Given the description of an element on the screen output the (x, y) to click on. 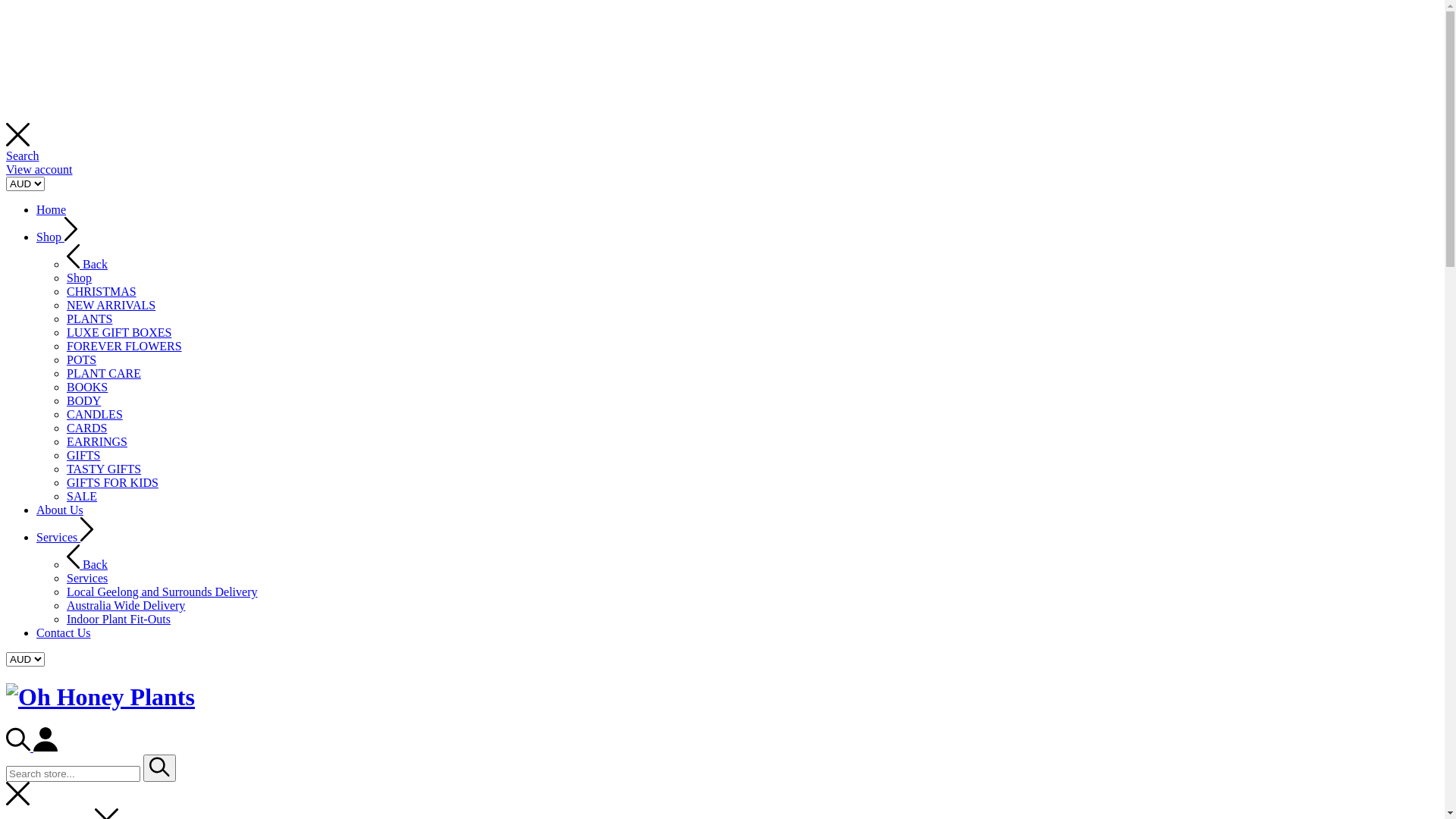
GIFTS Element type: text (83, 454)
CARDS Element type: text (86, 427)
TASTY GIFTS Element type: text (103, 468)
About Us Element type: text (59, 509)
Back Element type: text (86, 564)
PLANT CARE Element type: text (103, 373)
SALE Element type: text (81, 495)
Search Element type: text (22, 155)
Shop Element type: text (56, 236)
CHRISTMAS Element type: text (101, 291)
BOOKS Element type: text (86, 386)
Oh Honey Plants Element type: hover (100, 696)
View account Element type: text (39, 169)
BODY Element type: text (83, 400)
POTS Element type: text (81, 359)
Services Element type: text (86, 577)
PLANTS Element type: text (89, 318)
Back Element type: text (86, 263)
Home Element type: text (50, 209)
GIFTS FOR KIDS Element type: text (112, 482)
LUXE GIFT BOXES Element type: text (118, 332)
FOREVER FLOWERS Element type: text (124, 345)
Contact Us Element type: text (63, 632)
EARRINGS Element type: text (96, 441)
Indoor Plant Fit-Outs Element type: text (118, 618)
Services Element type: text (64, 536)
CANDLES Element type: text (94, 413)
Australia Wide Delivery Element type: text (125, 605)
Local Geelong and Surrounds Delivery Element type: text (161, 591)
NEW ARRIVALS Element type: text (110, 304)
Shop Element type: text (78, 277)
